Given the description of an element on the screen output the (x, y) to click on. 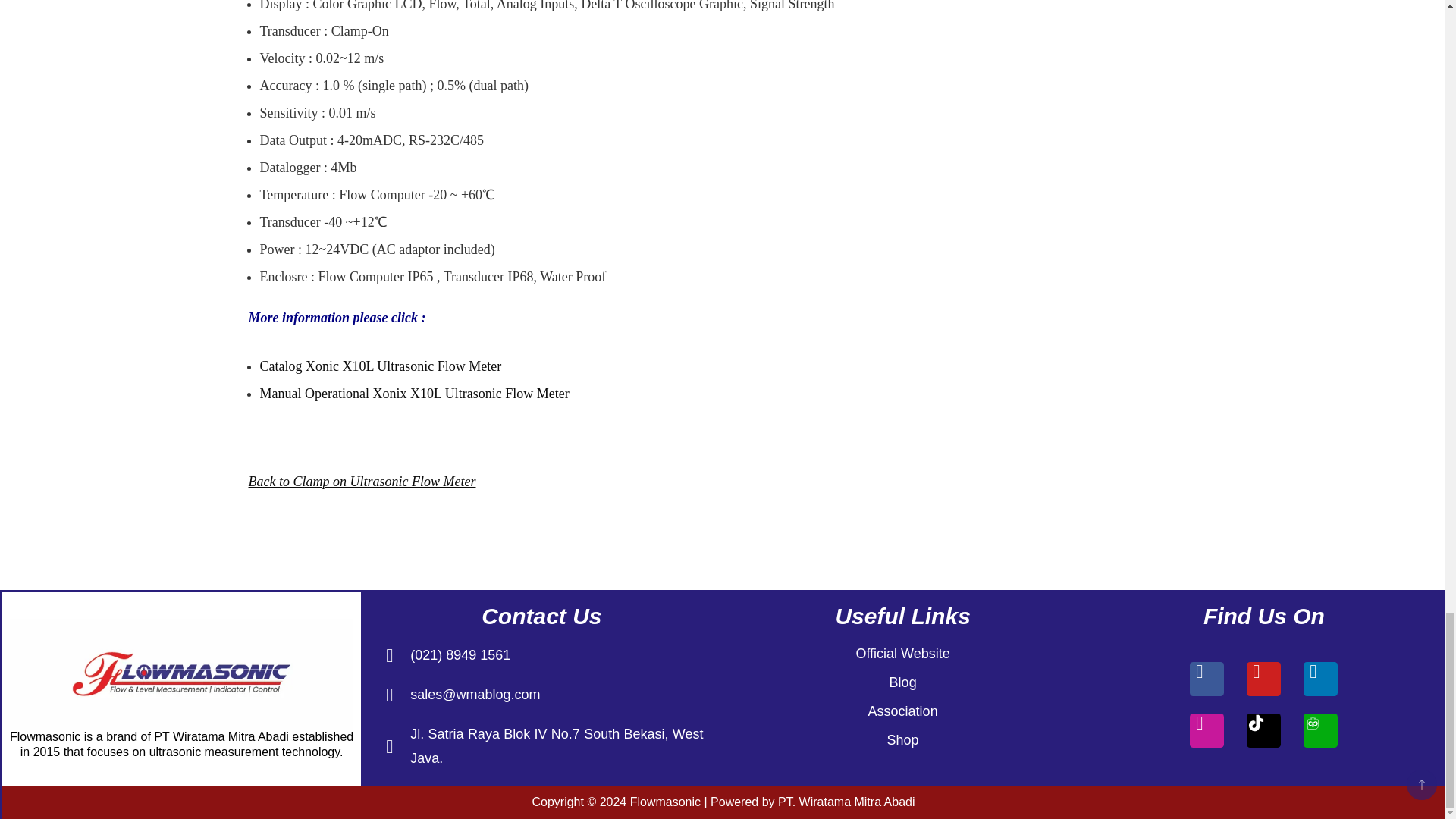
Manual Operational Xonix X10L Ultrasonic Flow Meter (414, 393)
Catalog Xonic X10L Ultrasonic Flow Meter (379, 365)
X10L,Compact,Eng Catalog (379, 365)
